Given the description of an element on the screen output the (x, y) to click on. 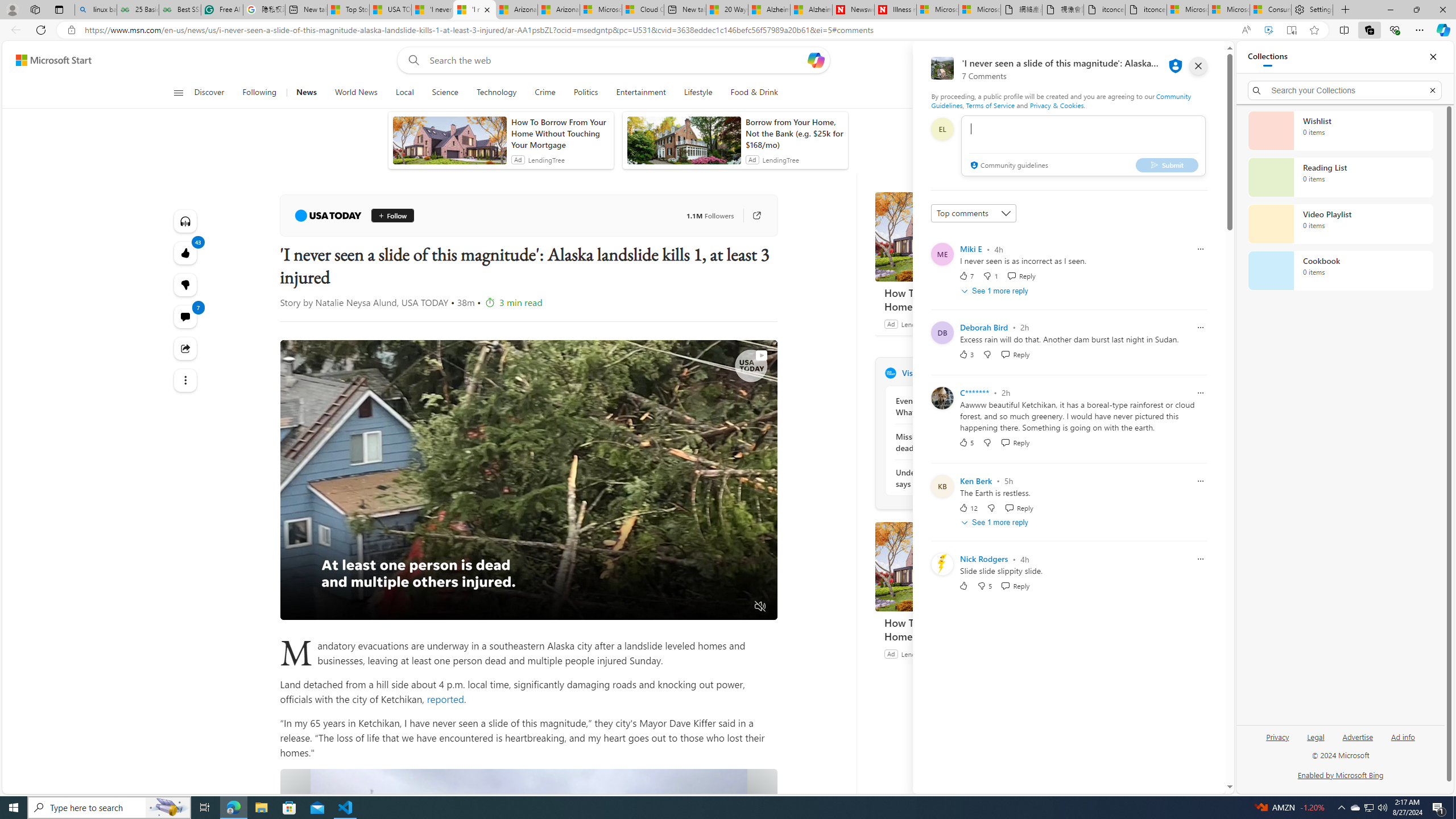
Enhance video (1268, 29)
Nick Rodgers (984, 559)
Profile Picture (941, 563)
Cloud Computing Services | Microsoft Azure (642, 9)
LendingTree (919, 653)
